Given the description of an element on the screen output the (x, y) to click on. 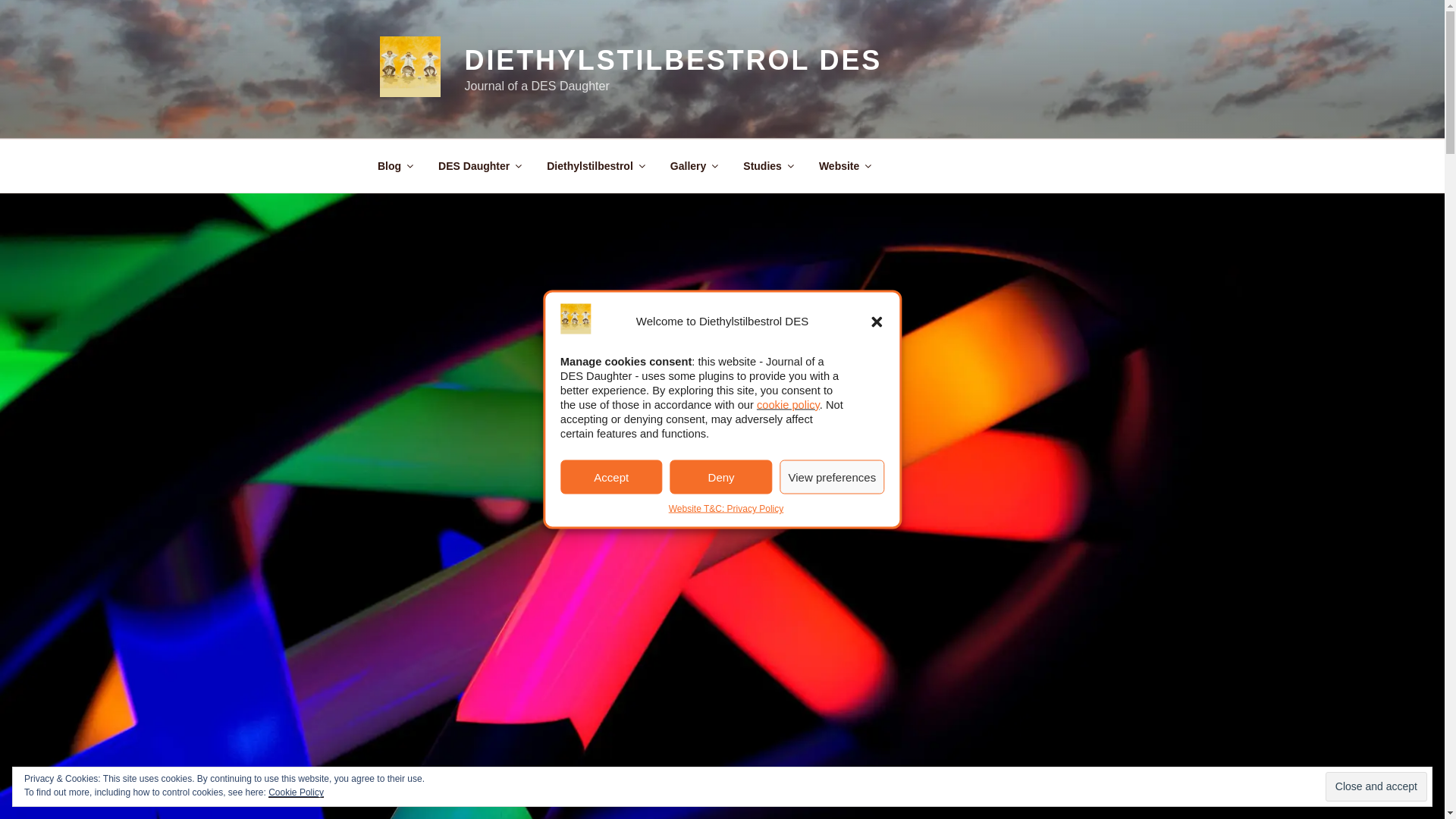
DIETHYLSTILBESTROL DES (673, 60)
Recent posts (394, 165)
Diethylstilbestrol DES (596, 165)
Close and accept (1375, 786)
DES Daughter (479, 165)
DES Daughter (479, 165)
Deny (721, 476)
Diethylstilbestrol (596, 165)
cookie policy (788, 404)
Blog (394, 165)
View preferences (832, 476)
Accept (611, 476)
